Given the description of an element on the screen output the (x, y) to click on. 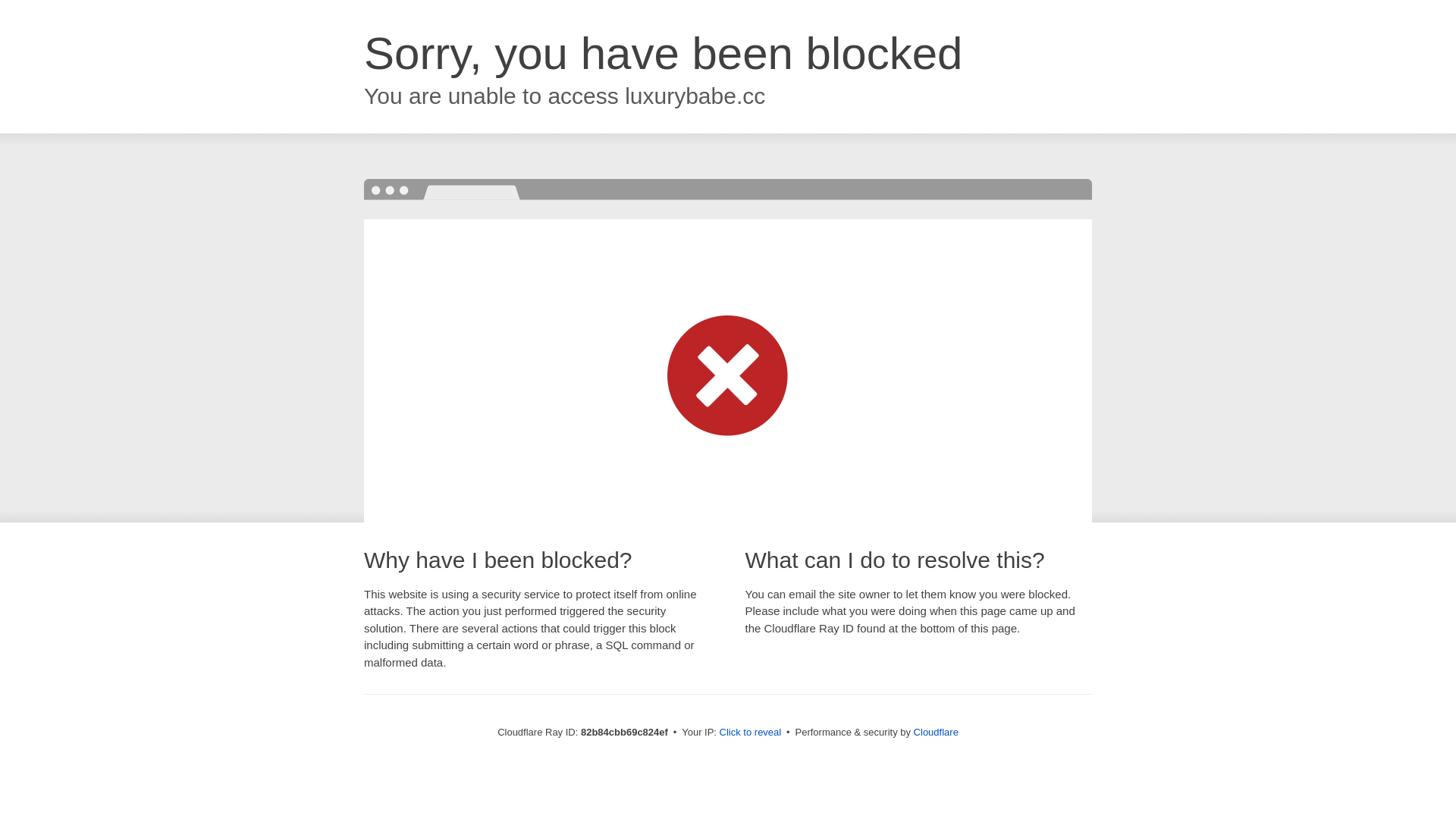
Click to reveal Element type: text (750, 732)
Cloudflare Element type: text (935, 731)
